Given the description of an element on the screen output the (x, y) to click on. 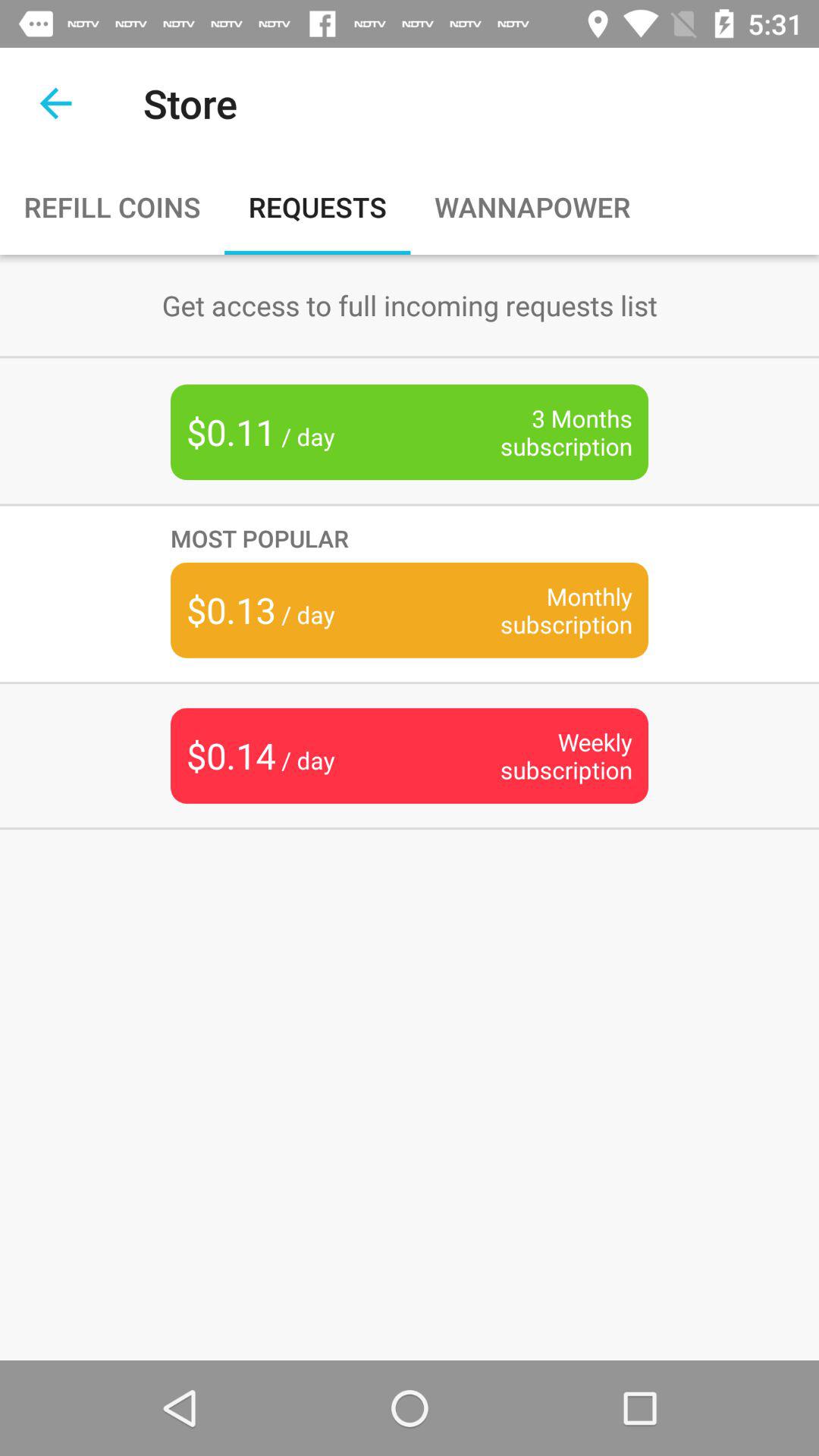
open item below 3 months subscription icon (409, 538)
